Given the description of an element on the screen output the (x, y) to click on. 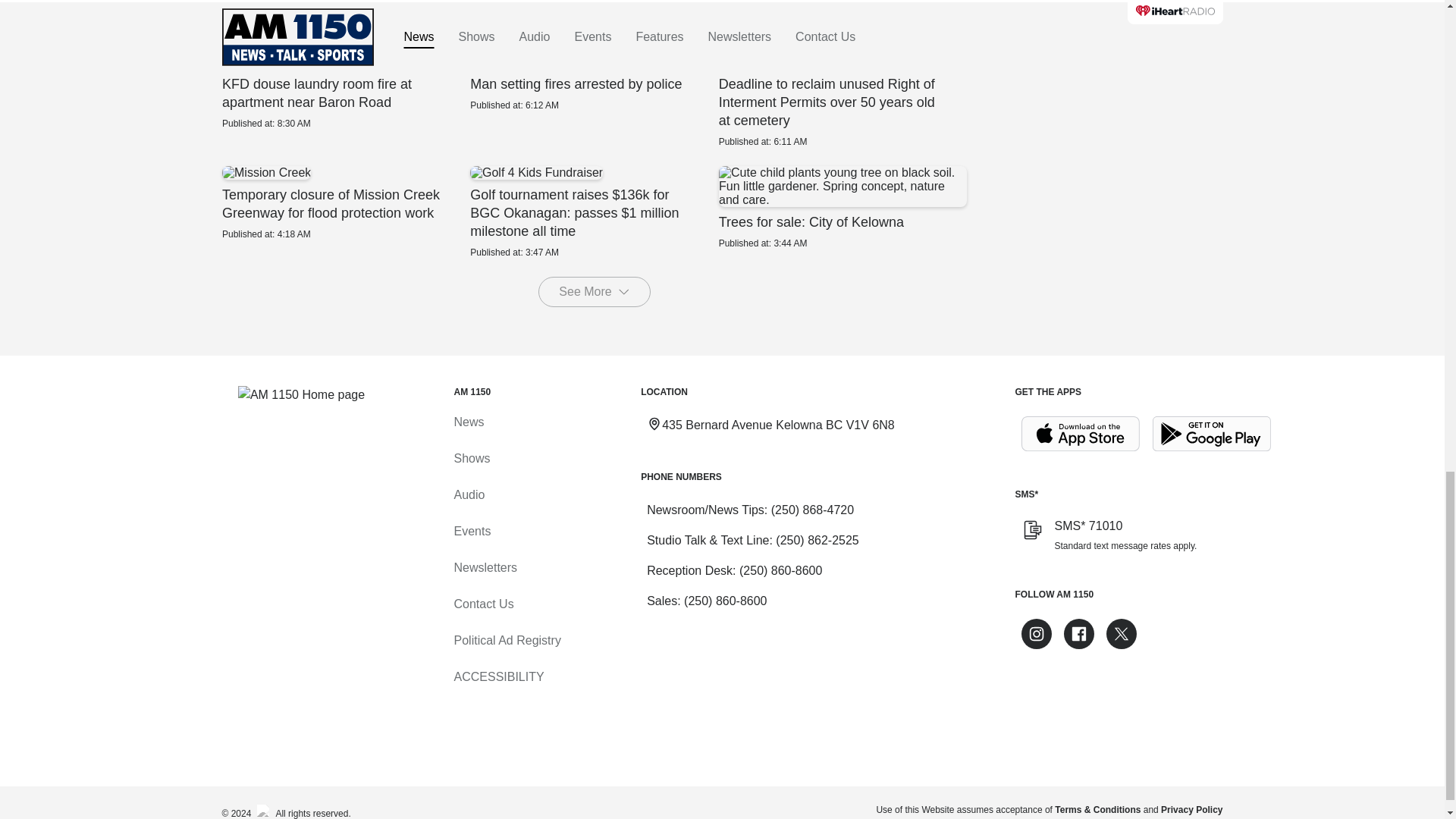
Newsletters (484, 567)
Trees for sale: City of Kelowna (841, 207)
Political Ad Registry (506, 640)
News (467, 421)
Contact Us (482, 603)
Get it on Google Play (1212, 434)
Audio (468, 494)
Privacy Policy (1191, 809)
